Given the description of an element on the screen output the (x, y) to click on. 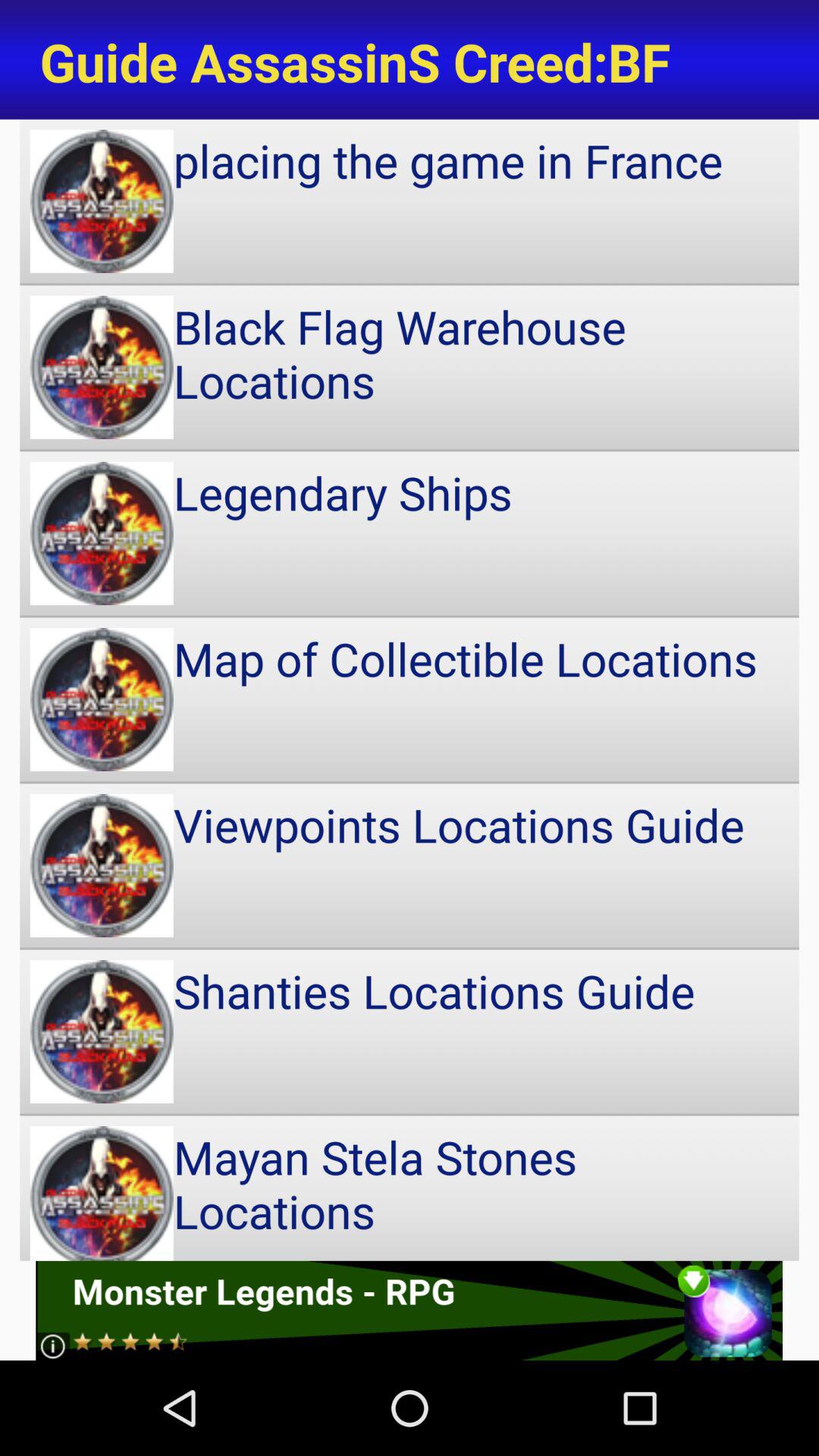
scroll to the viewpoints locations guide item (409, 865)
